Given the description of an element on the screen output the (x, y) to click on. 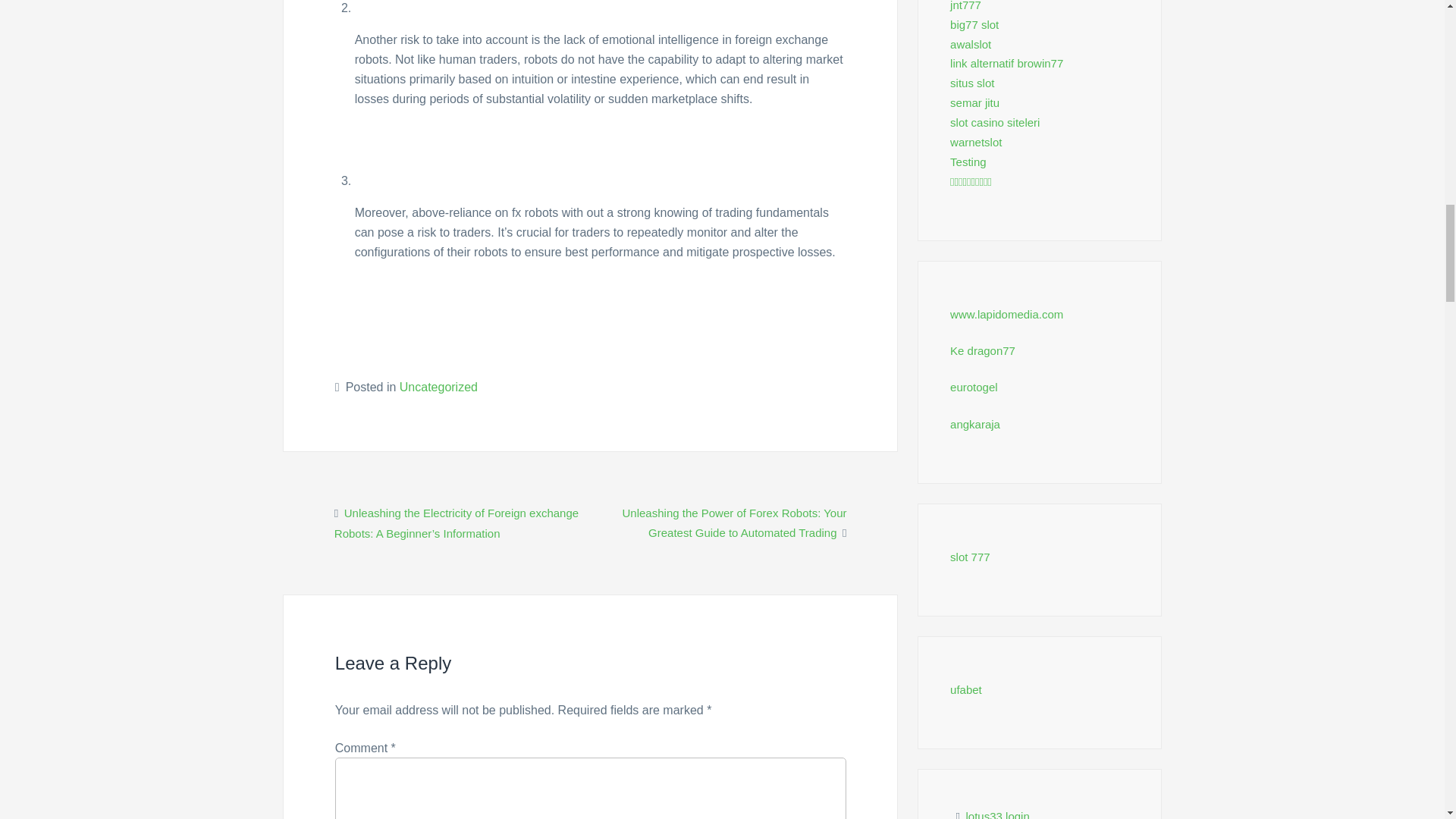
link alternatif browin77 (1006, 62)
warnetslot (975, 141)
Ke dragon77 (982, 350)
slot casino siteleri (994, 122)
big77 slot (974, 24)
Uncategorized (437, 386)
jnt777 (965, 5)
Testing (968, 161)
www.lapidomedia.com (1006, 314)
situs slot (972, 82)
semar jitu (974, 102)
awalslot (970, 43)
